Given the description of an element on the screen output the (x, y) to click on. 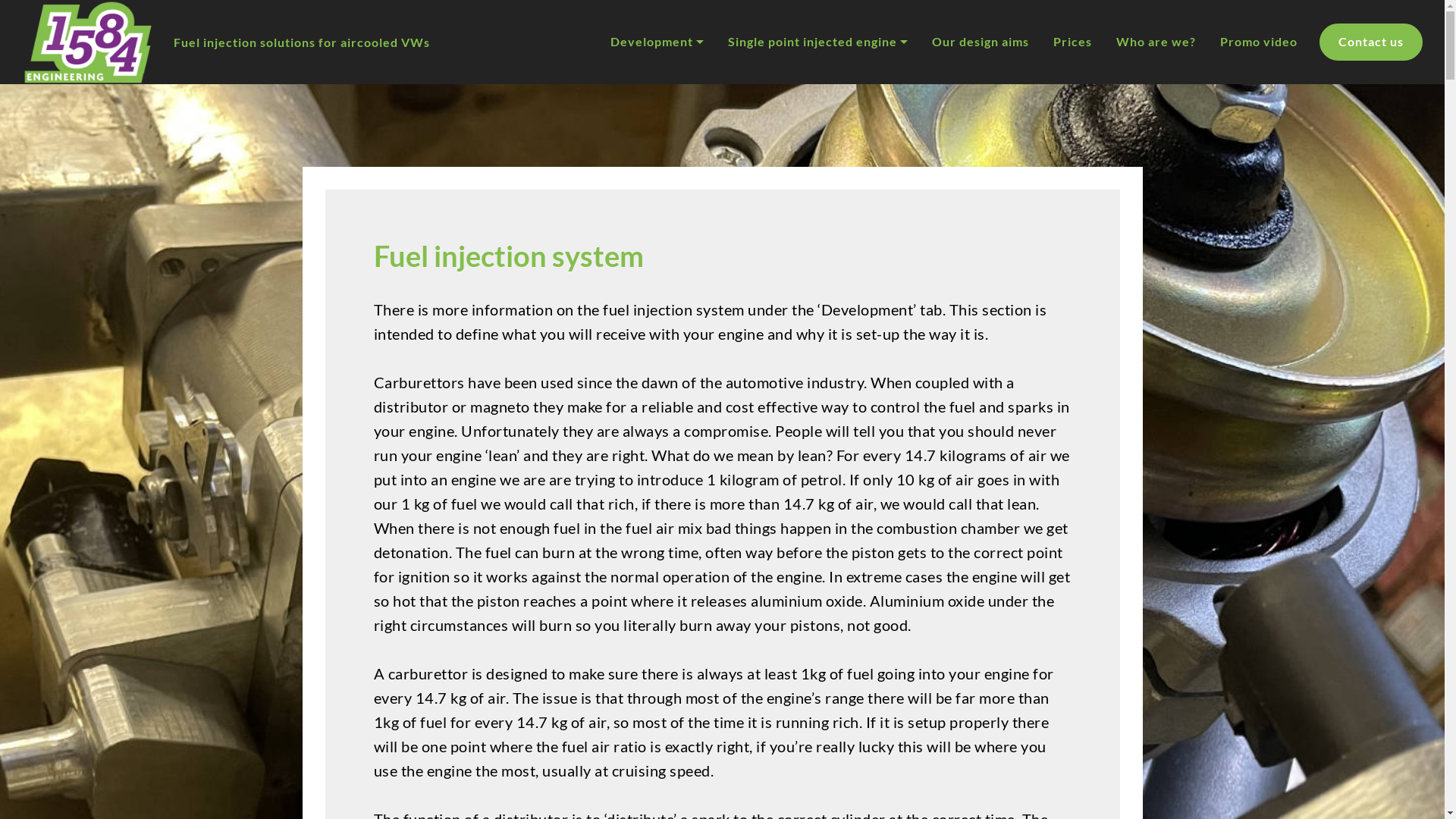
Contact us Element type: text (1370, 41)
Who are we? Element type: text (1155, 41)
Fuel injection solutions for aircooled VWs Element type: text (301, 42)
Prices Element type: text (1072, 41)
Our design aims Element type: text (980, 41)
Single point injected engine Element type: text (817, 41)
Promo video Element type: text (1258, 41)
Development Element type: text (656, 41)
